Given the description of an element on the screen output the (x, y) to click on. 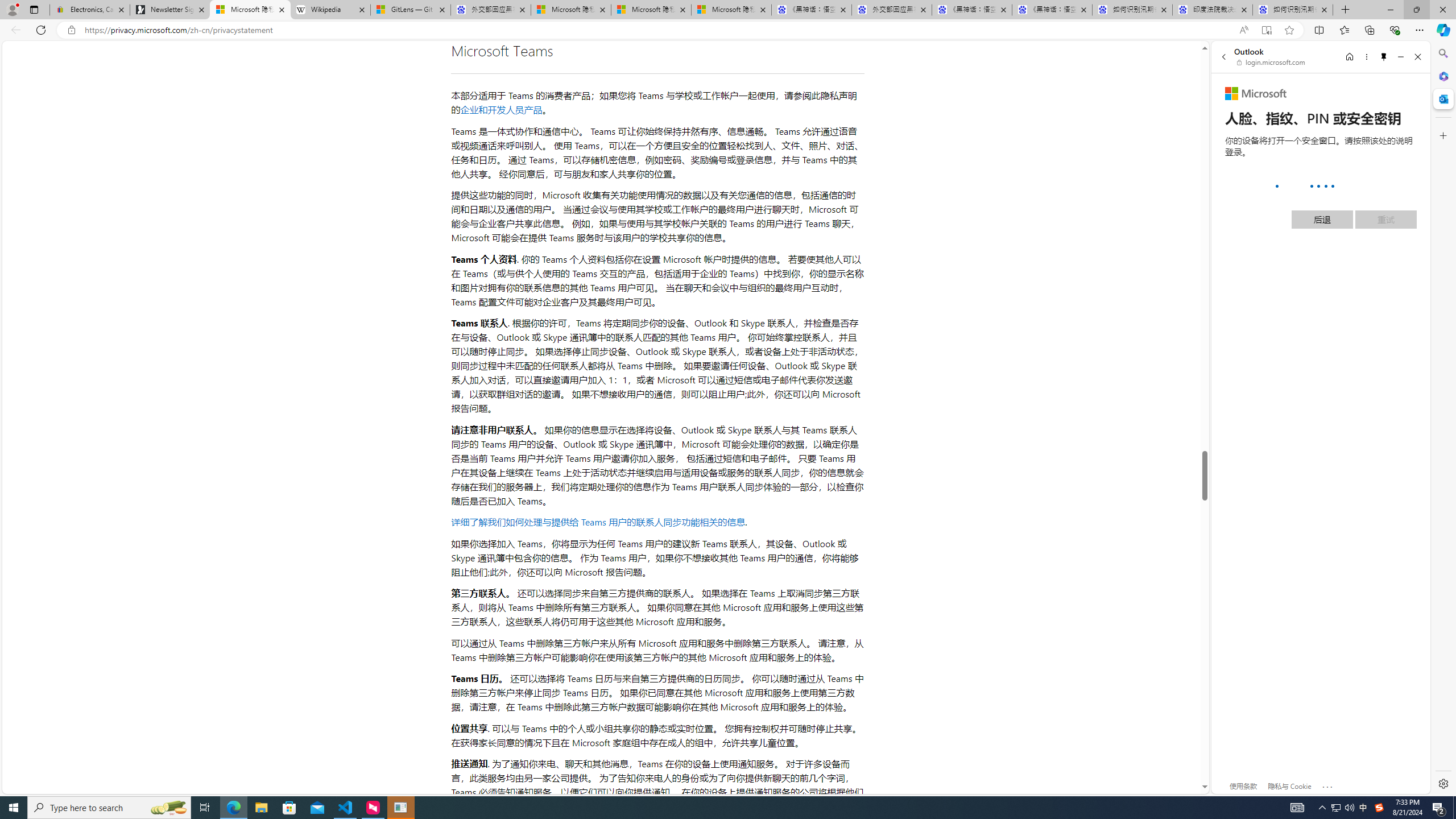
Newsletter Sign Up (170, 9)
login.microsoft.com (1271, 61)
